Given the description of an element on the screen output the (x, y) to click on. 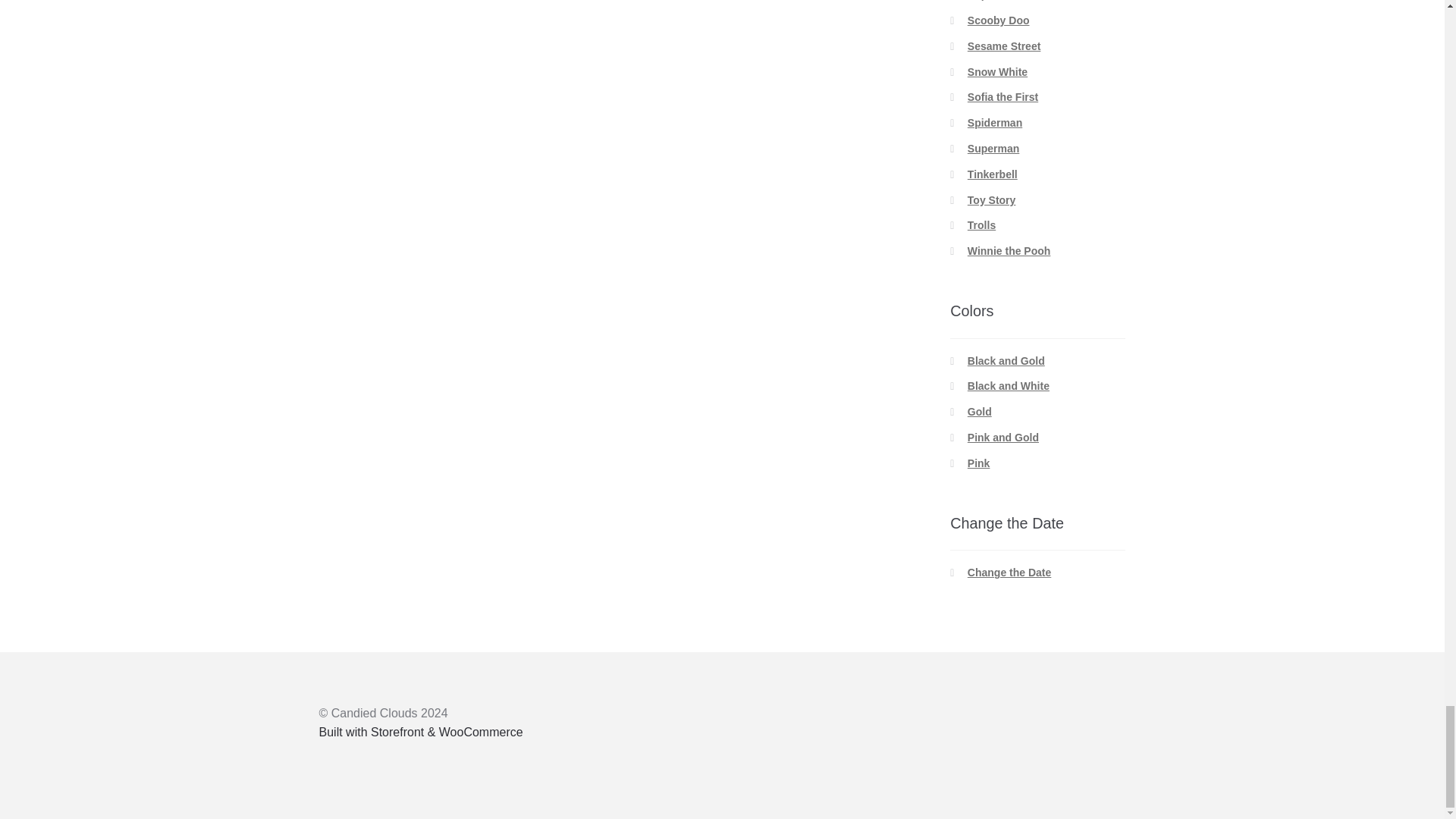
WooCommerce - The Best eCommerce Platform for WordPress (420, 731)
